Given the description of an element on the screen output the (x, y) to click on. 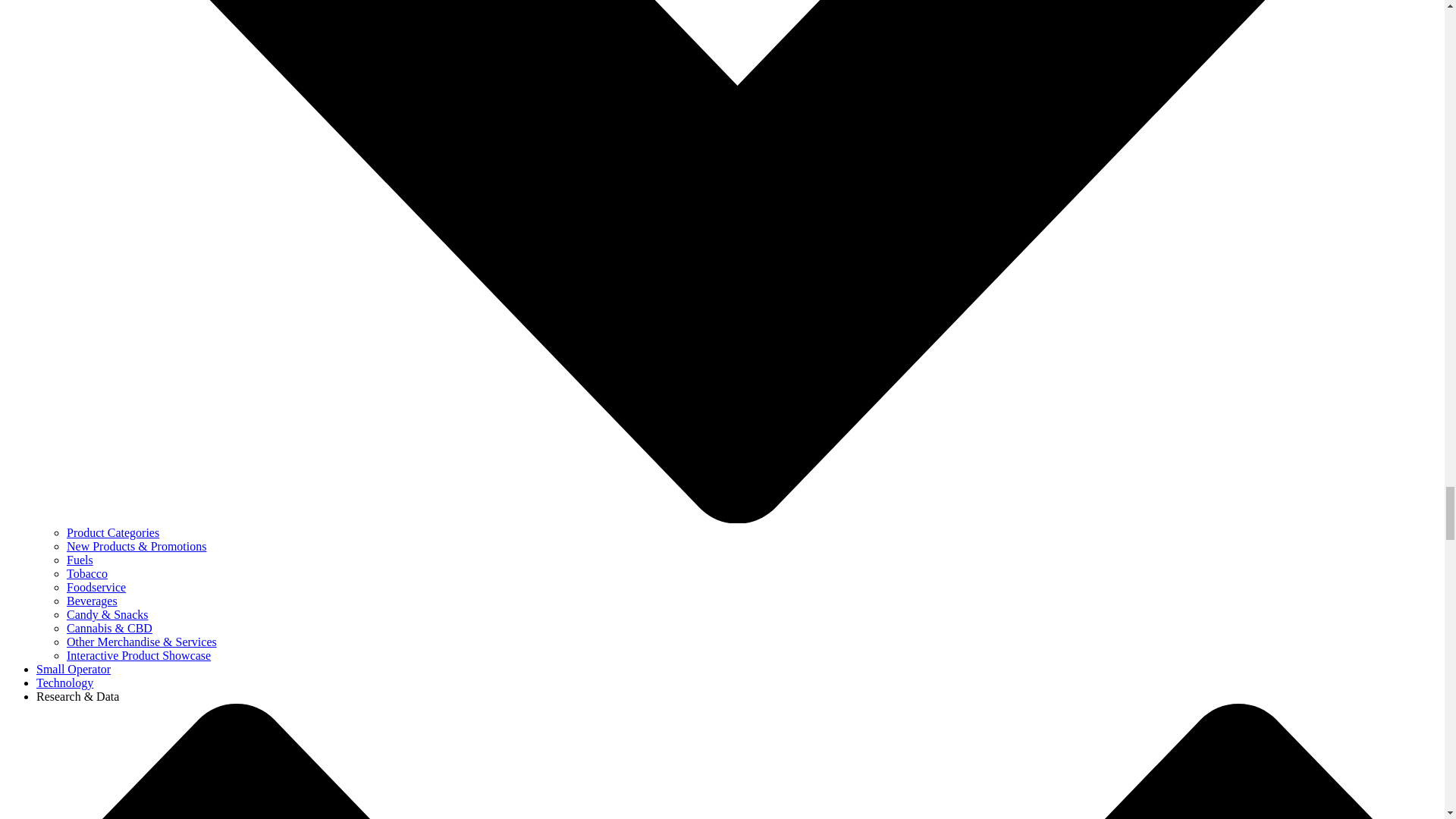
Product Categories (112, 532)
Technology (64, 682)
Foodservice (95, 586)
Fuels (79, 559)
Interactive Product Showcase (138, 655)
Small Operator (73, 668)
Tobacco (86, 573)
Beverages (91, 600)
